Given the description of an element on the screen output the (x, y) to click on. 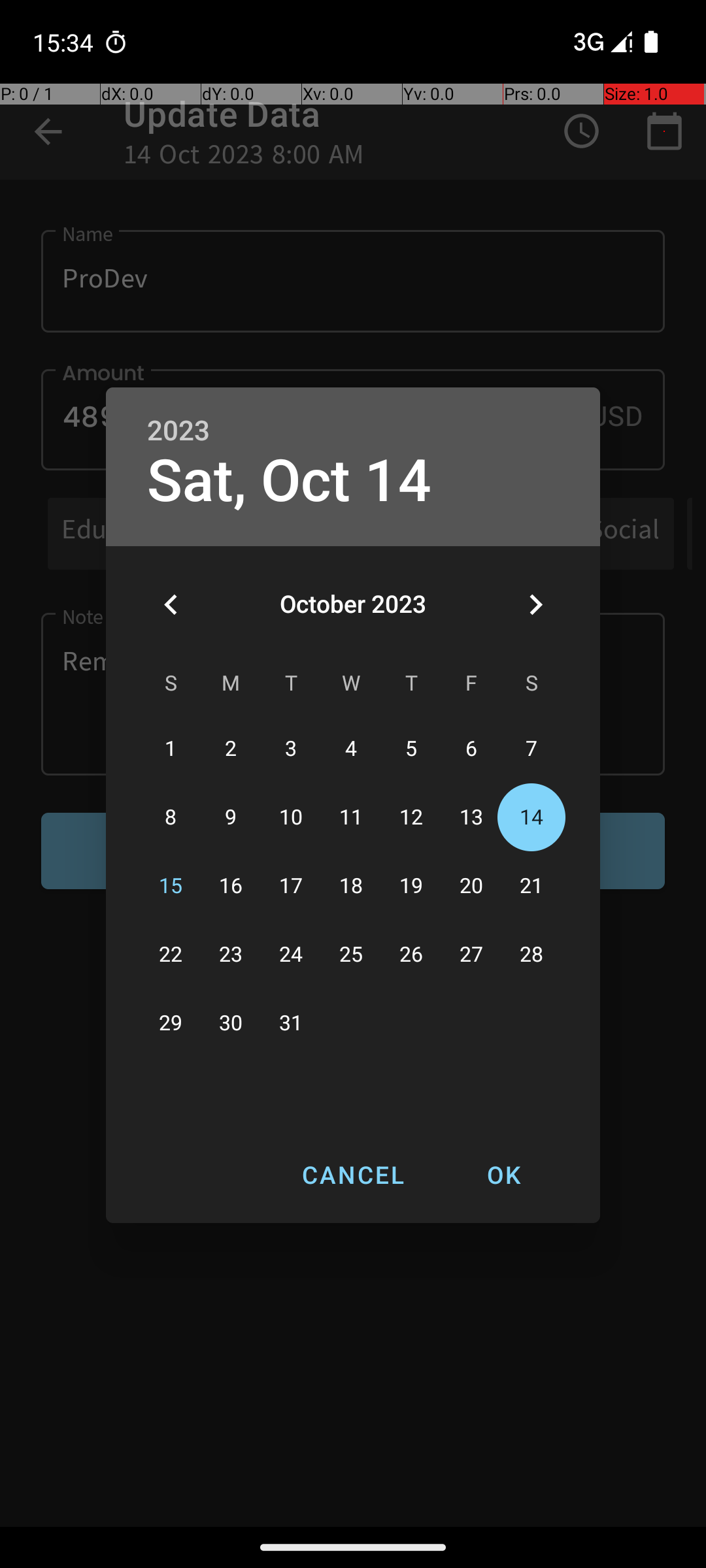
Sat, Oct 14 Element type: android.widget.TextView (289, 480)
